Given the description of an element on the screen output the (x, y) to click on. 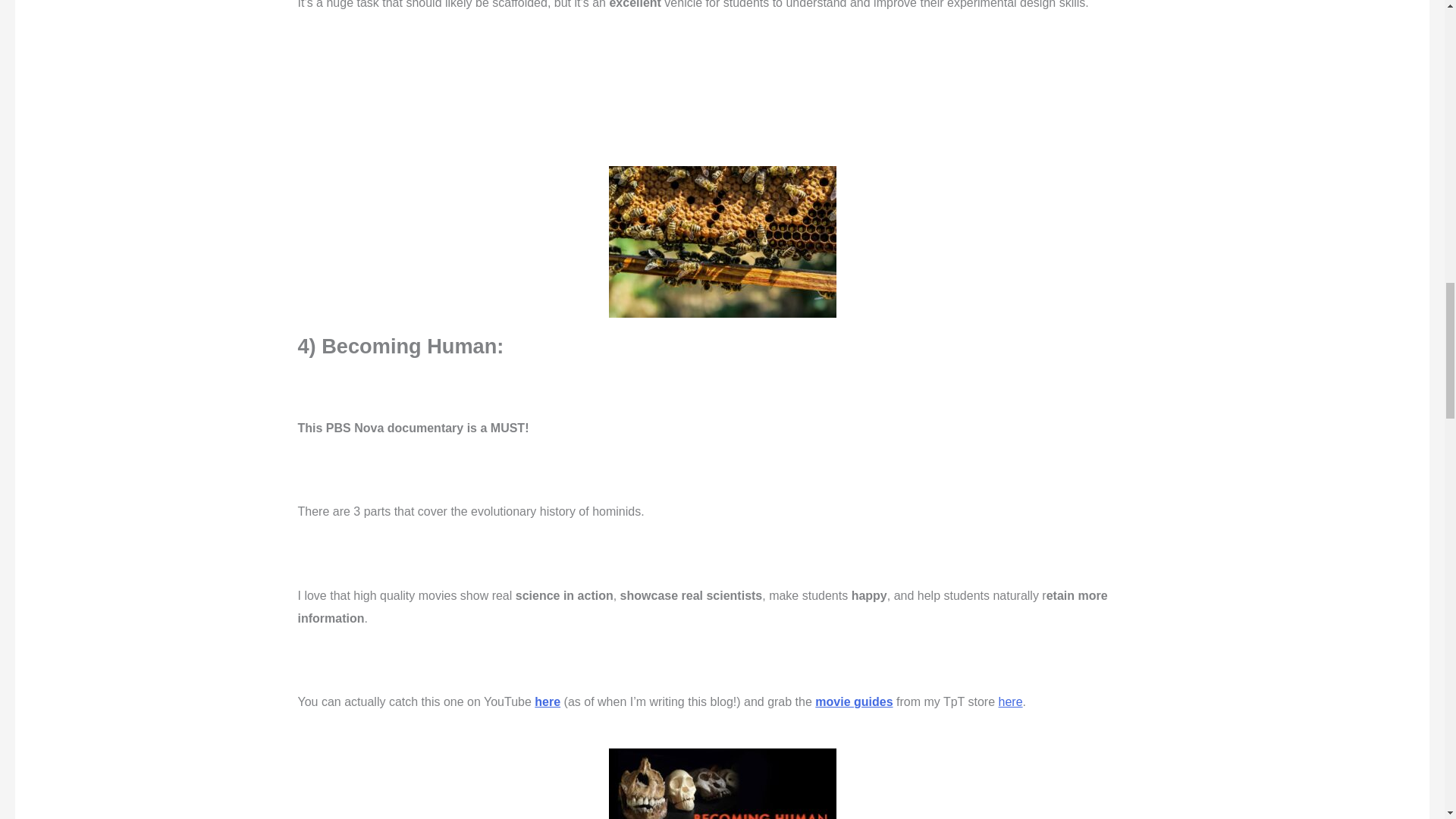
movie guides (853, 701)
here (547, 701)
here (1010, 701)
